Given the description of an element on the screen output the (x, y) to click on. 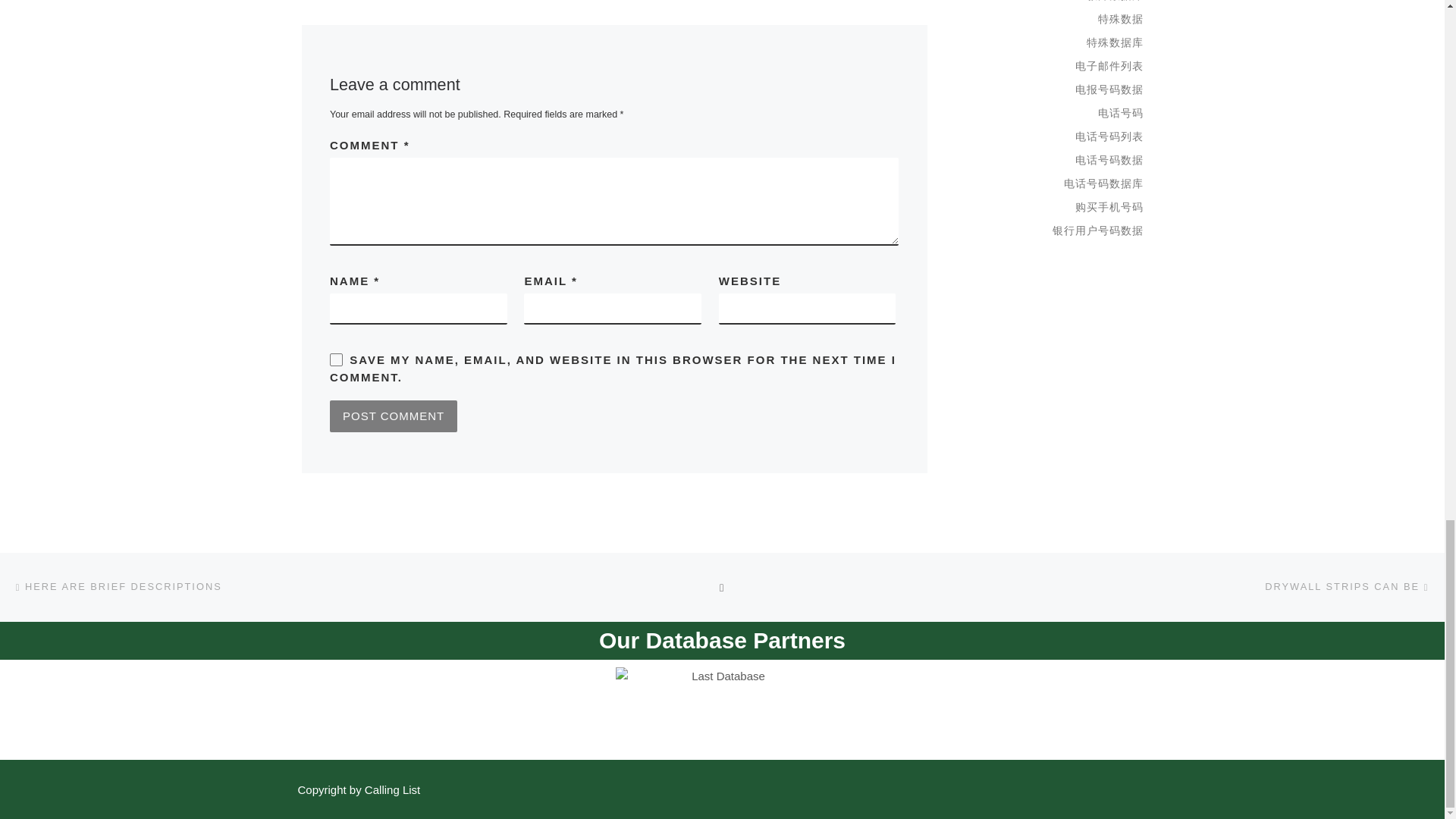
yes (336, 359)
Post Comment (393, 416)
